Given the description of an element on the screen output the (x, y) to click on. 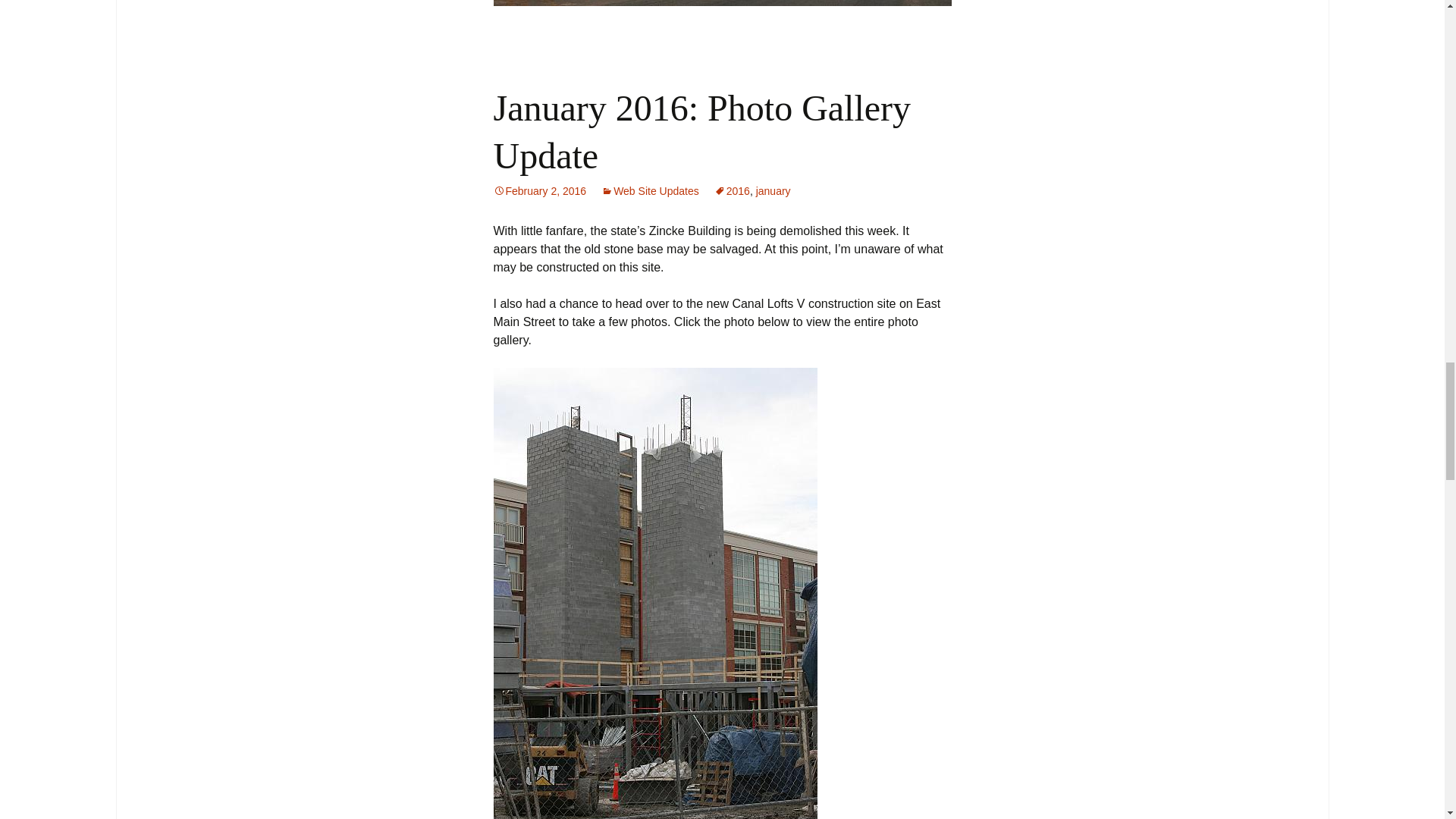
Web Site Updates (649, 191)
January 2016: Photo Gallery Update (702, 131)
2016 (731, 191)
February 2, 2016 (539, 191)
january (772, 191)
Permalink to January 2016: Photo Gallery Update (539, 191)
